Given the description of an element on the screen output the (x, y) to click on. 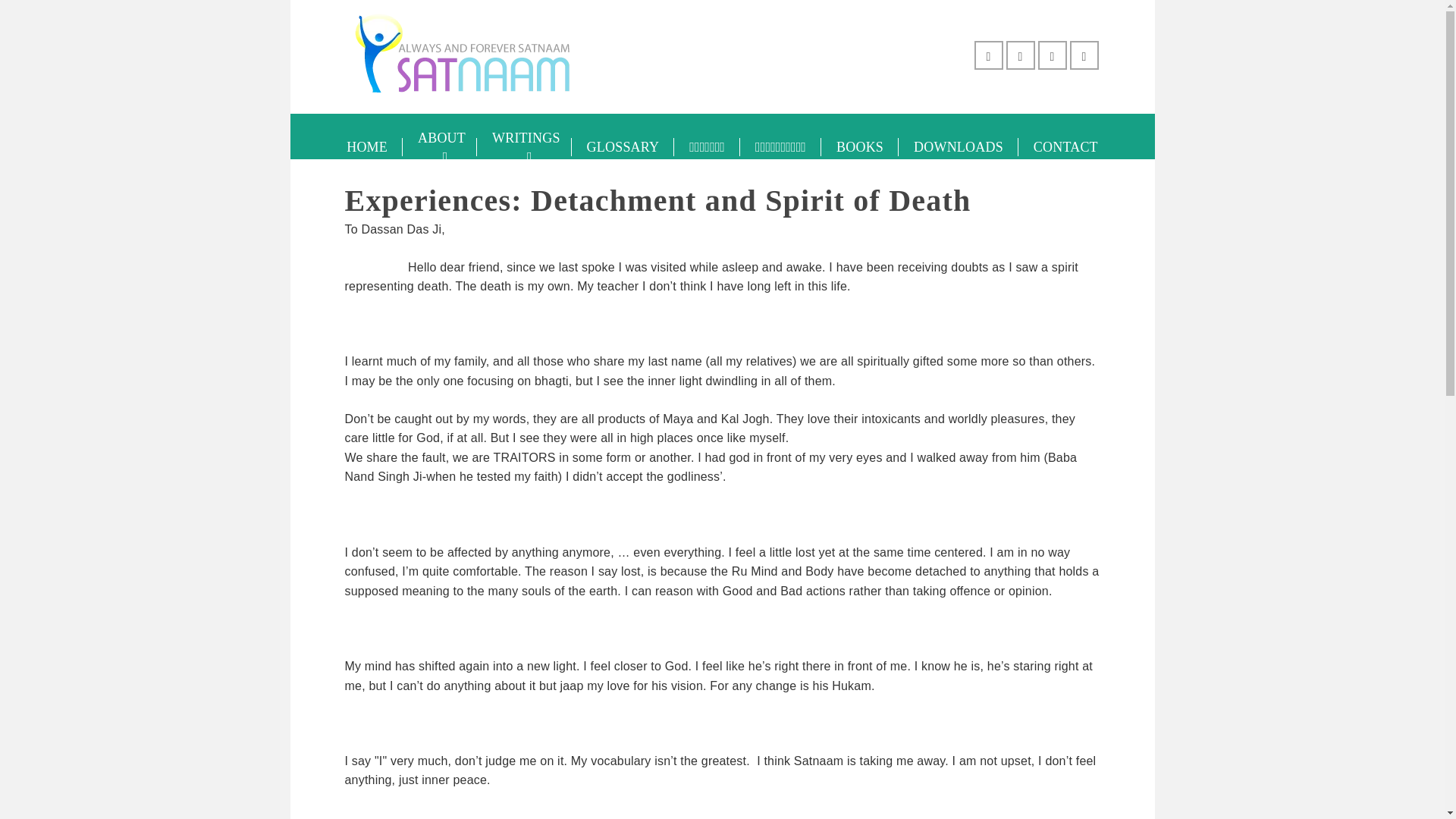
WRITINGS (524, 146)
CONTACT (1065, 146)
HOME (367, 146)
DOWNLOADS (957, 146)
BOOKS (859, 146)
ABOUT (440, 146)
GLOSSARY (623, 146)
